Given the description of an element on the screen output the (x, y) to click on. 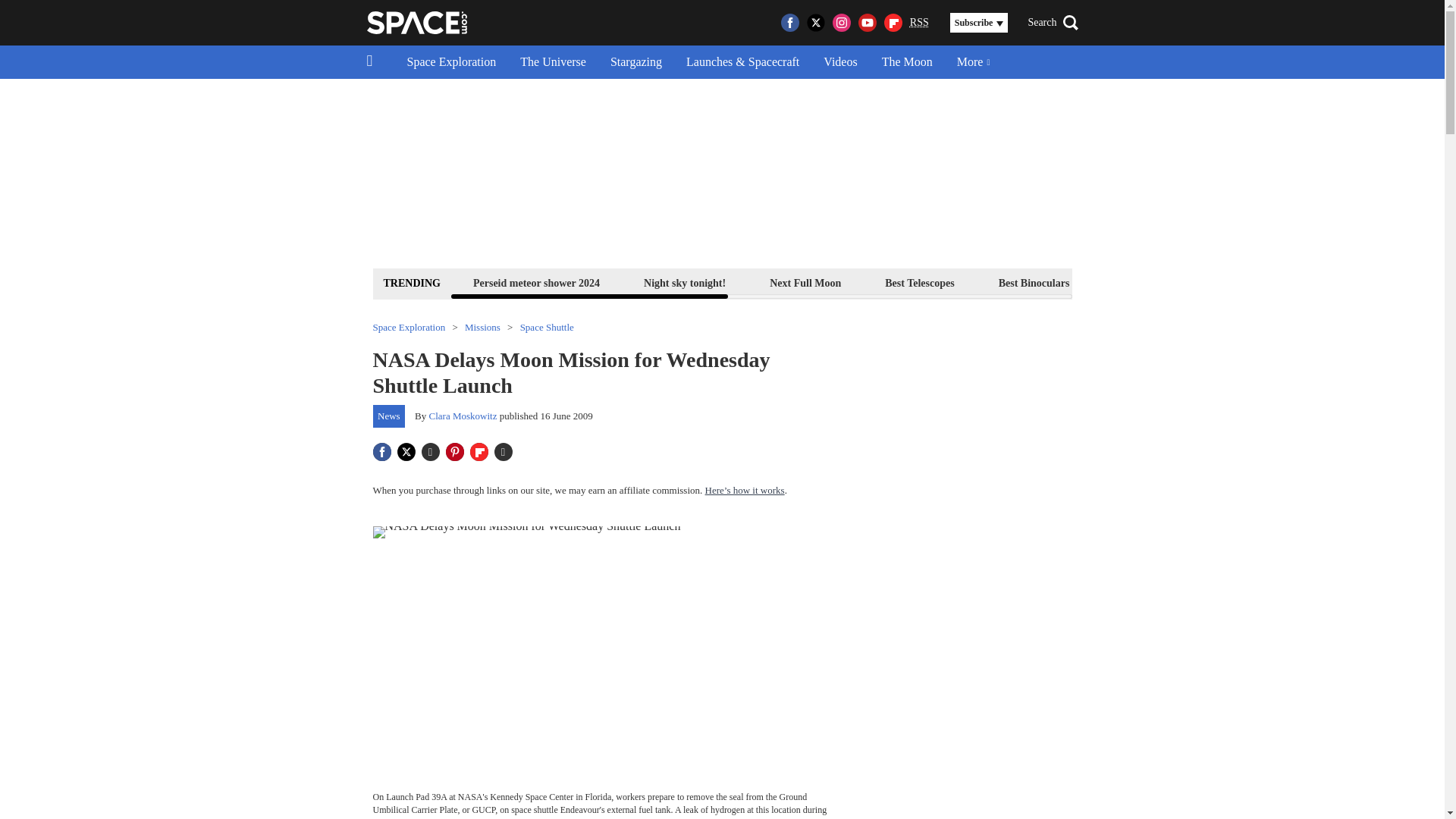
Night sky tonight! (684, 282)
Best Star Projectors (1158, 282)
The Moon (906, 61)
The Universe (553, 61)
Best Binoculars (1033, 282)
Videos (839, 61)
Best Telescopes (919, 282)
Space Exploration (451, 61)
Next Full Moon (804, 282)
Really Simple Syndication (919, 21)
